Given the description of an element on the screen output the (x, y) to click on. 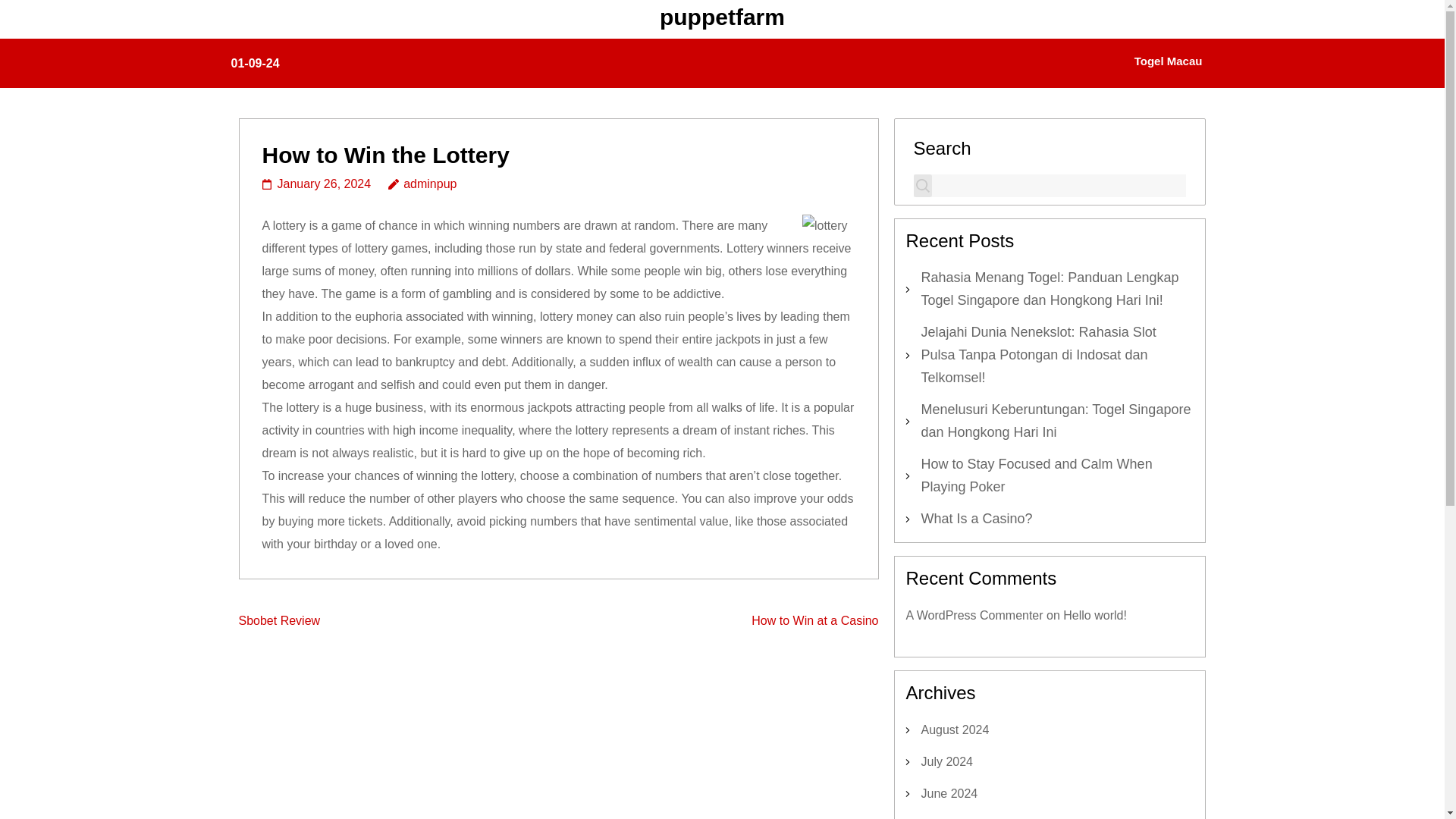
Togel Macau (1168, 62)
Hello world! (1094, 615)
What Is a Casino? (976, 518)
June 2024 (948, 793)
July 2024 (946, 761)
puppetfarm (721, 16)
How to Win at a Casino (814, 620)
August 2024 (954, 729)
